Given the description of an element on the screen output the (x, y) to click on. 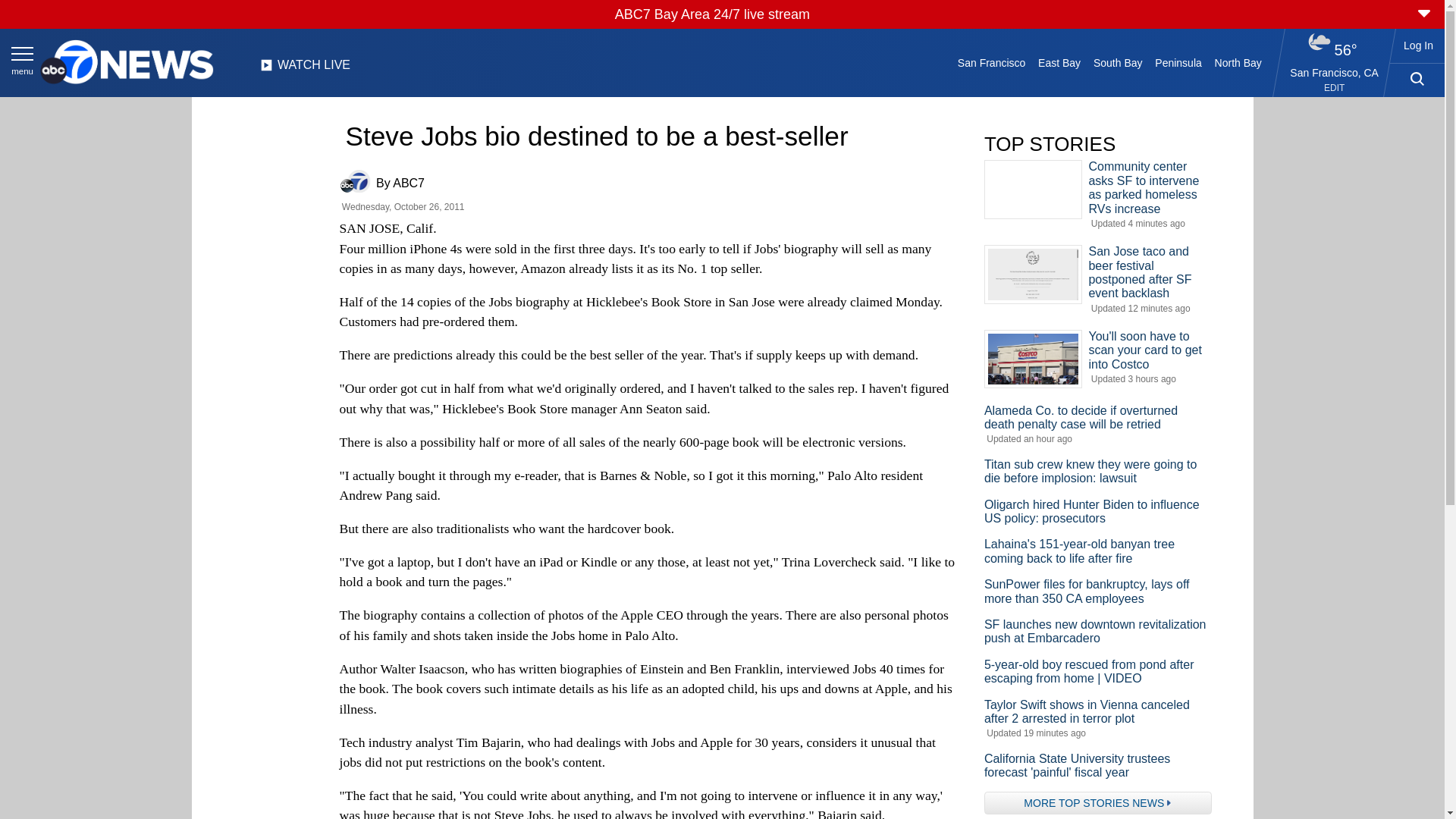
San Francisco (990, 62)
EDIT (1333, 87)
Peninsula (1178, 62)
WATCH LIVE (305, 69)
North Bay (1238, 62)
San Francisco, CA (1334, 72)
South Bay (1117, 62)
East Bay (1059, 62)
